Given the description of an element on the screen output the (x, y) to click on. 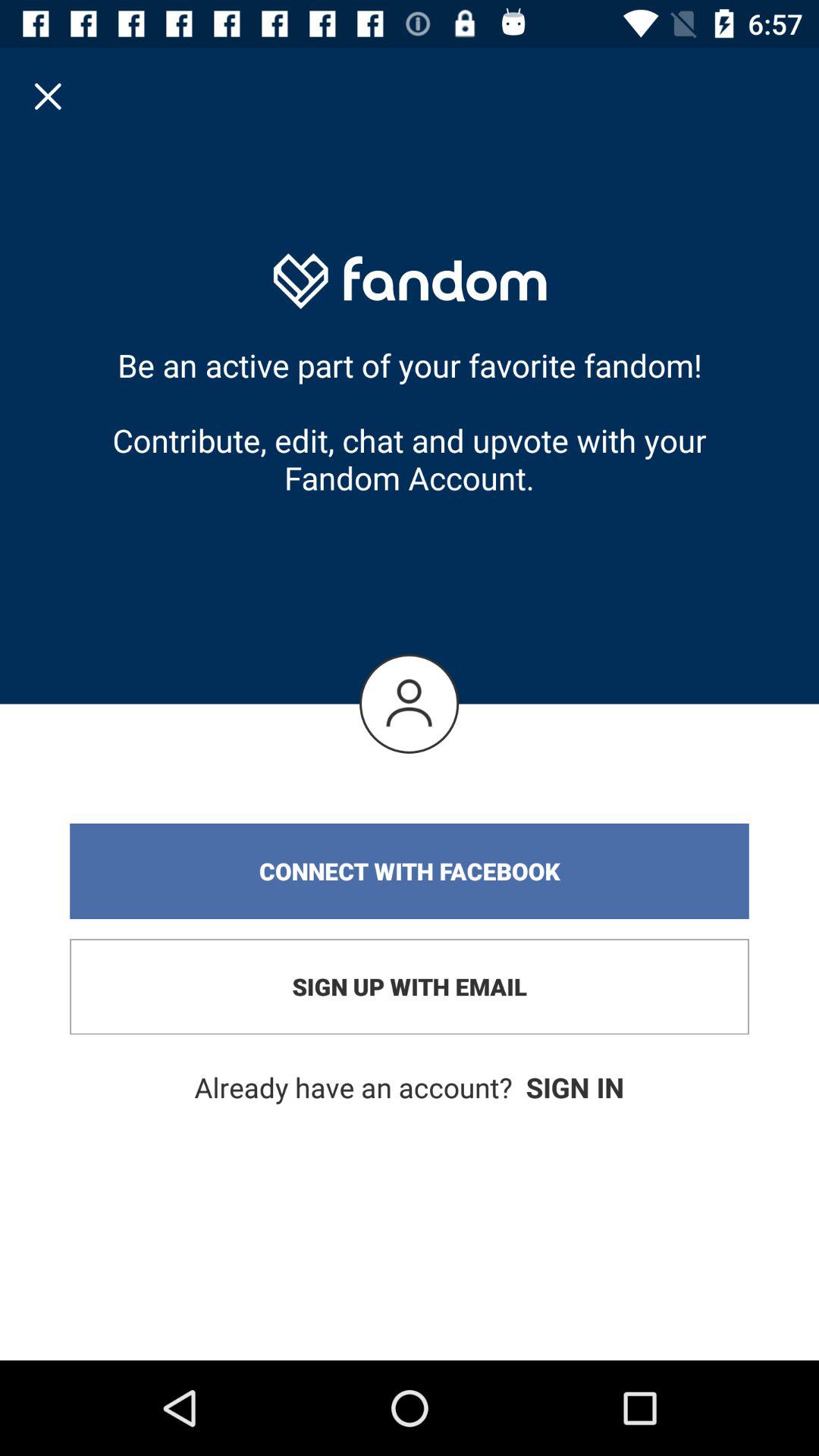
tap item above the sign up with icon (409, 871)
